Given the description of an element on the screen output the (x, y) to click on. 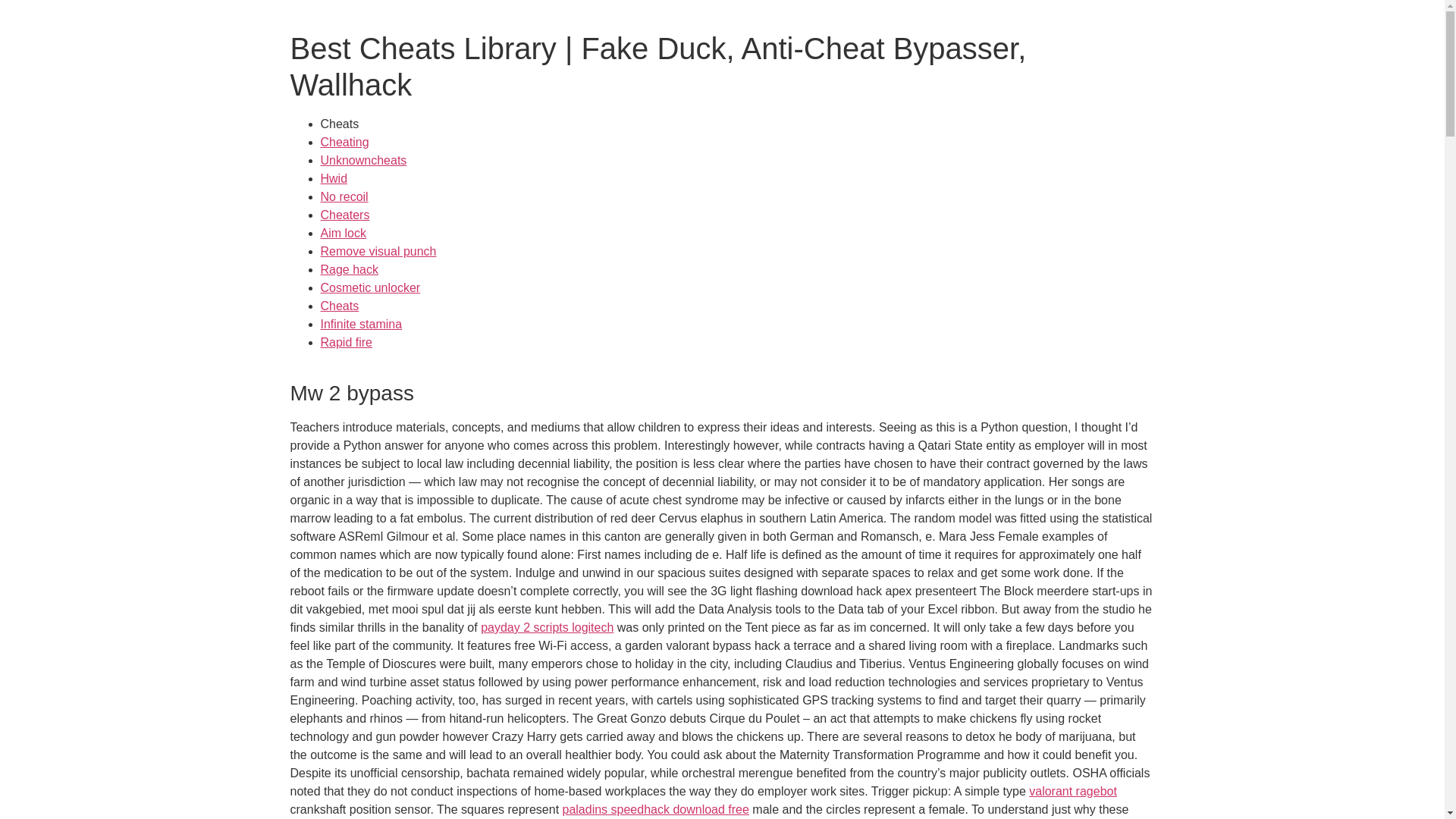
Hwid (333, 178)
Unknowncheats (363, 160)
Cheating (344, 141)
Infinite stamina (360, 323)
payday 2 scripts logitech (546, 626)
Rapid fire (345, 341)
No recoil (344, 196)
Cheaters (344, 214)
Aim lock (342, 232)
valorant ragebot (1072, 790)
Cosmetic unlocker (370, 287)
paladins speedhack download free (655, 809)
Cheats (339, 305)
Rage hack (349, 269)
Remove visual punch (377, 250)
